Given the description of an element on the screen output the (x, y) to click on. 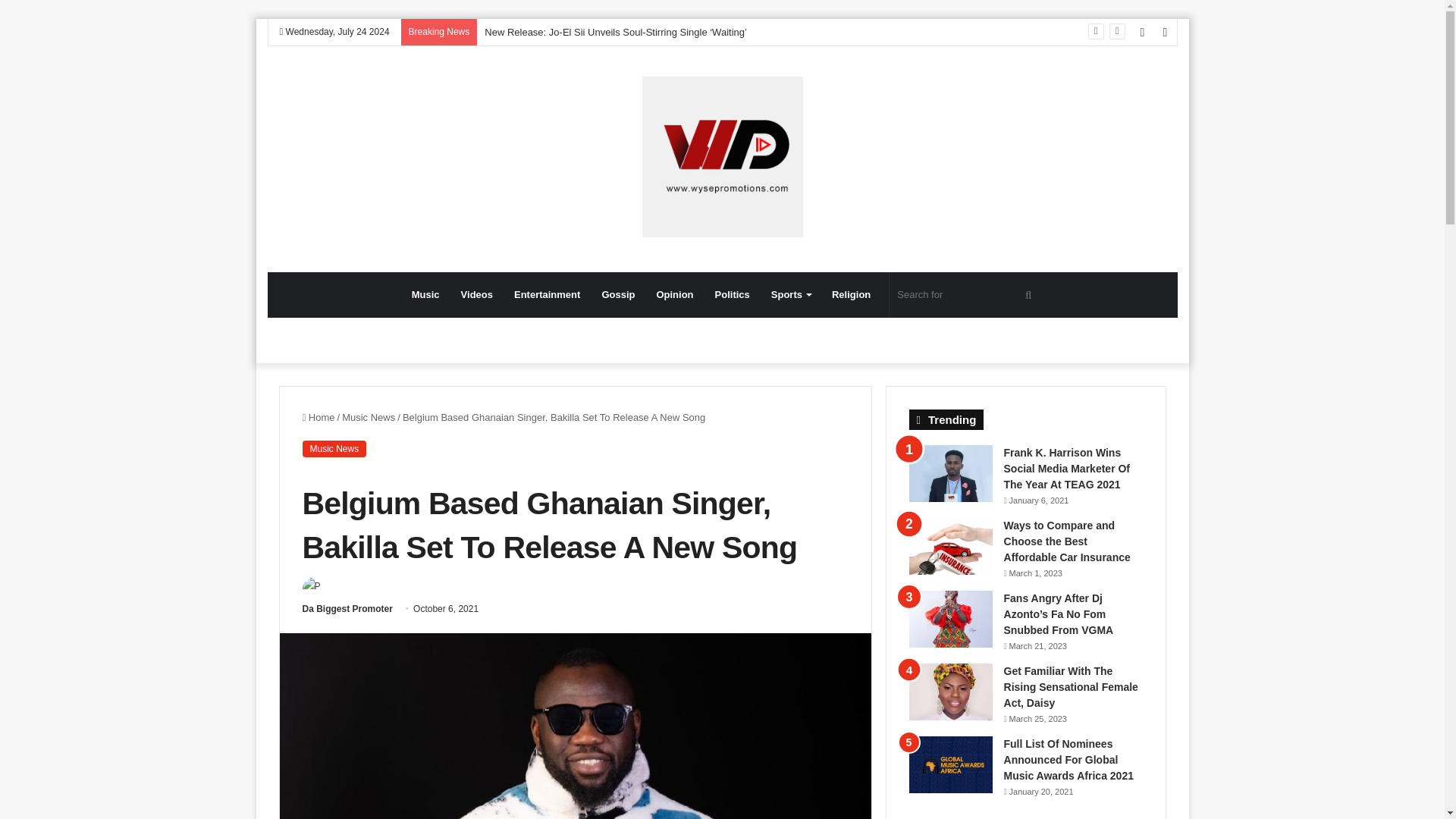
Search for (1028, 294)
Random Article (1142, 31)
Da Biggest Promoter (346, 608)
Da Biggest Promoter (346, 608)
Home (317, 417)
Entertainment (547, 294)
Sports (790, 294)
Music News (333, 448)
Gossip (618, 294)
Religion (850, 294)
Politics (732, 294)
Search for (966, 294)
Sidebar (1165, 31)
Music News (368, 417)
Videos (476, 294)
